Given the description of an element on the screen output the (x, y) to click on. 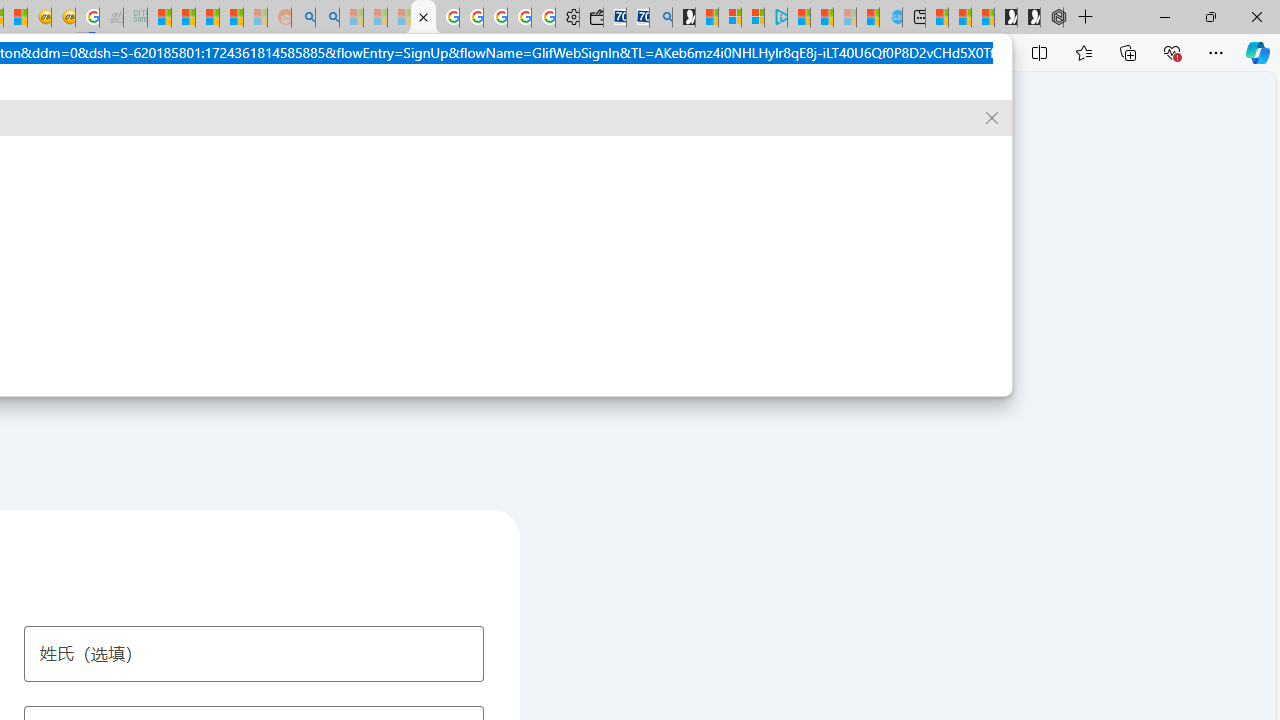
Student Loan Update: Forgiveness Program Ends This Month (231, 17)
